Given the description of an element on the screen output the (x, y) to click on. 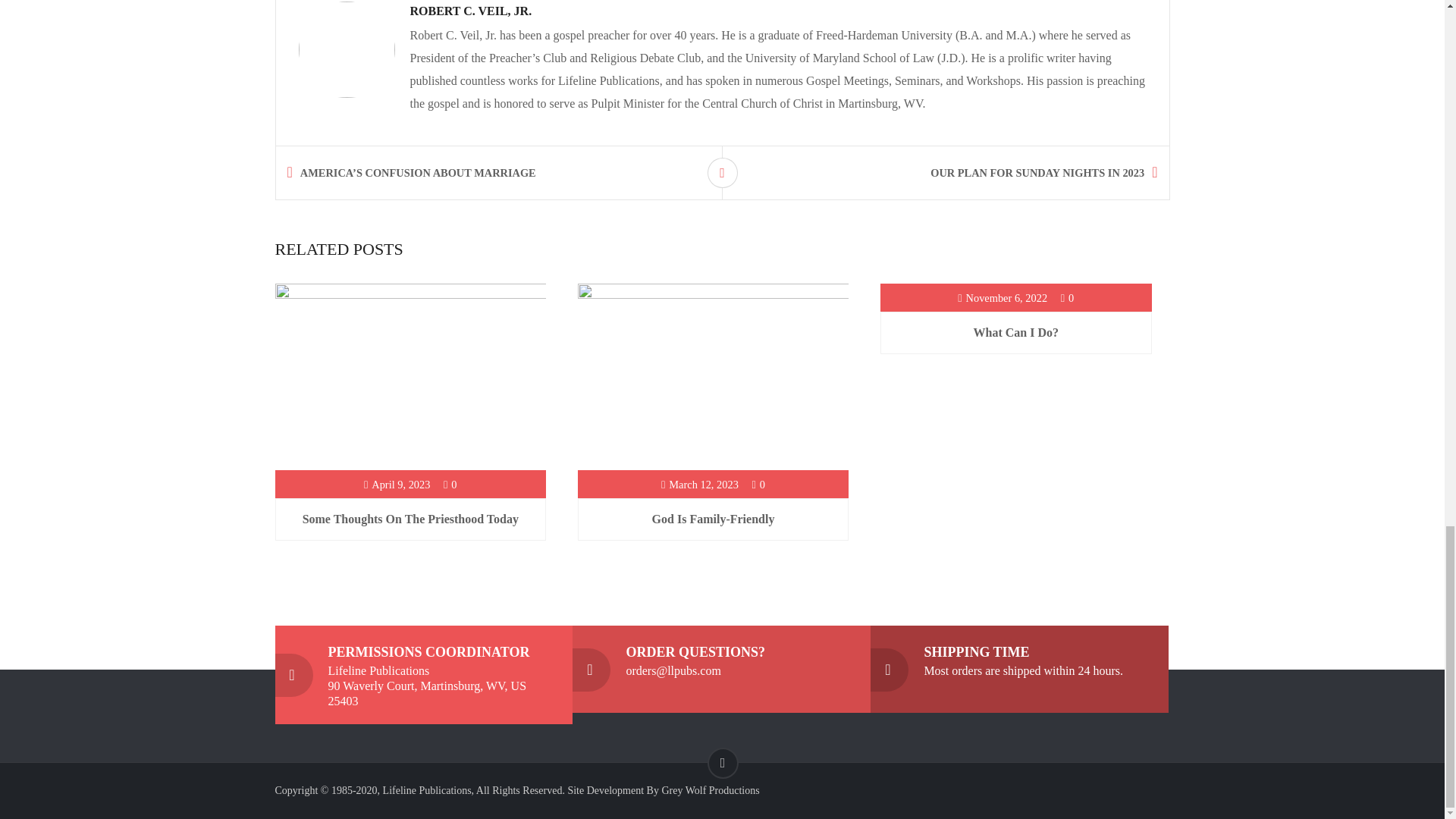
What Can I Do? (1016, 332)
OUR PLAN FOR SUNDAY NIGHTS IN 2023 (955, 172)
God Is Family-Friendly (713, 518)
Some Thoughts On The Priesthood Today (410, 518)
View All (721, 173)
ROBERT C. VEIL, JR. (470, 10)
